Given the description of an element on the screen output the (x, y) to click on. 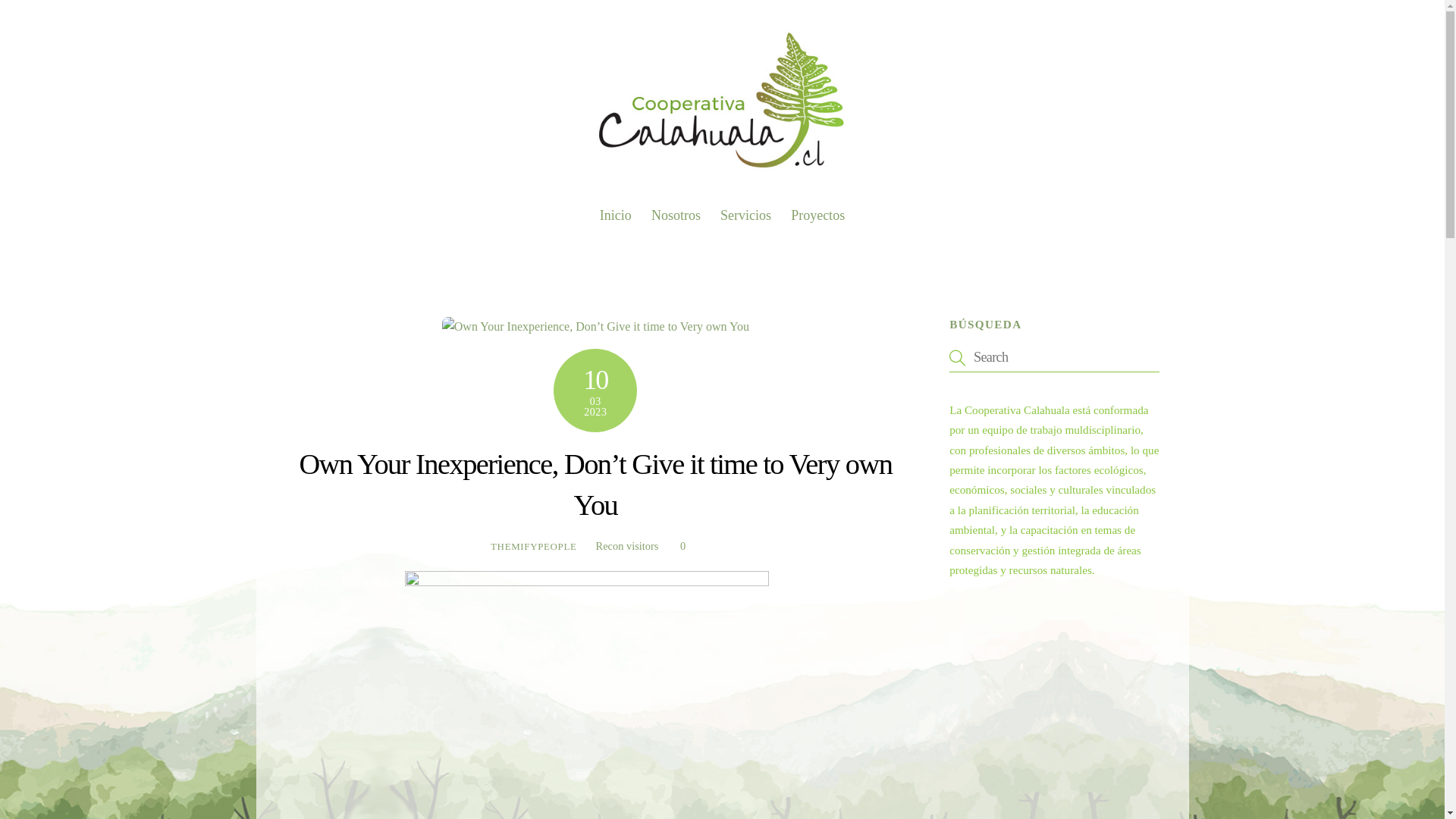
Servicios (744, 215)
Cooperativa Calahuala (722, 169)
THEMIFYPEOPLE (533, 546)
Nosotros (676, 215)
Inicio (721, 209)
Recon visitors (615, 215)
Proyectos (627, 545)
Search (818, 215)
